Given the description of an element on the screen output the (x, y) to click on. 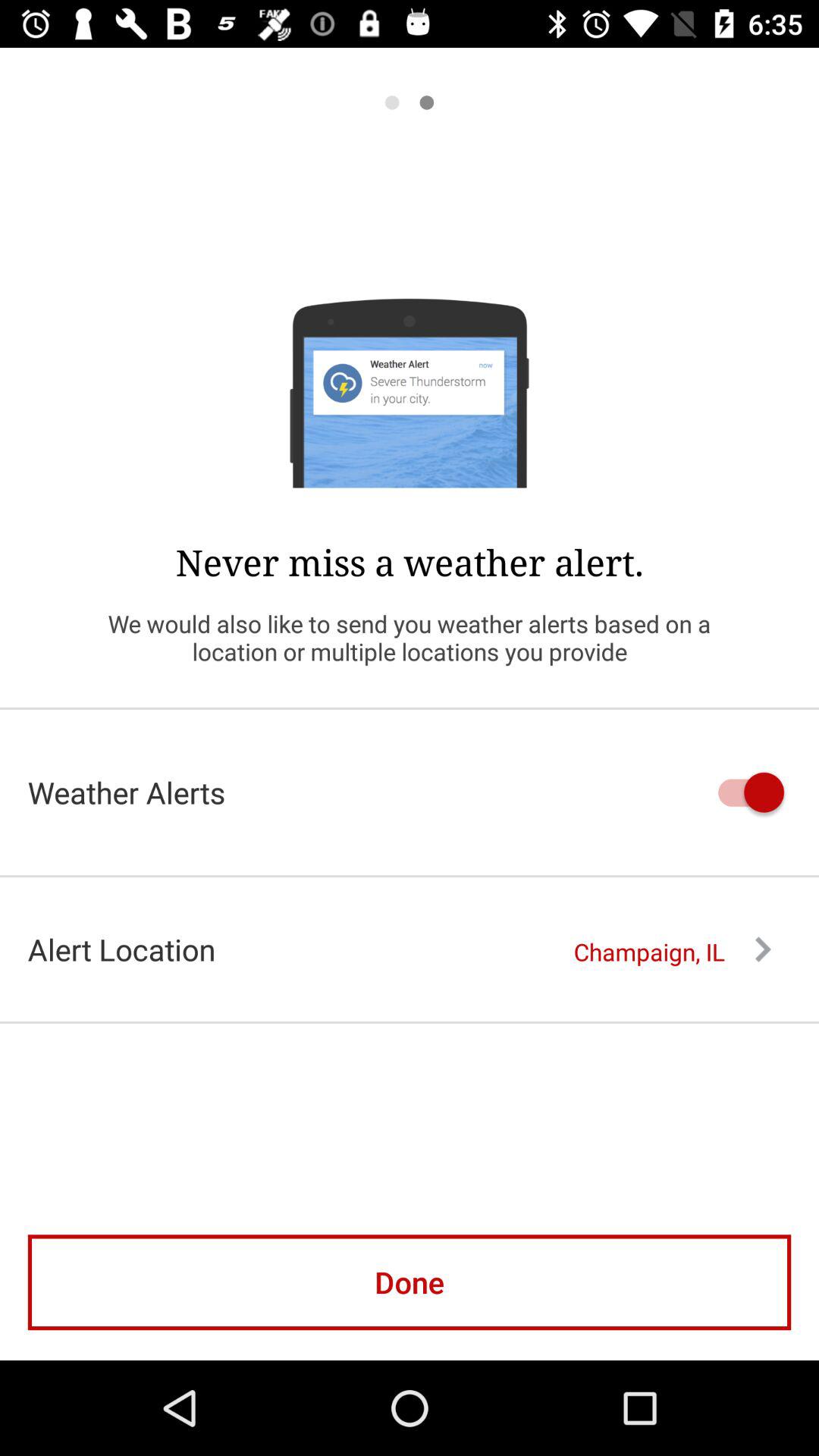
jump to the done (409, 1282)
